Given the description of an element on the screen output the (x, y) to click on. 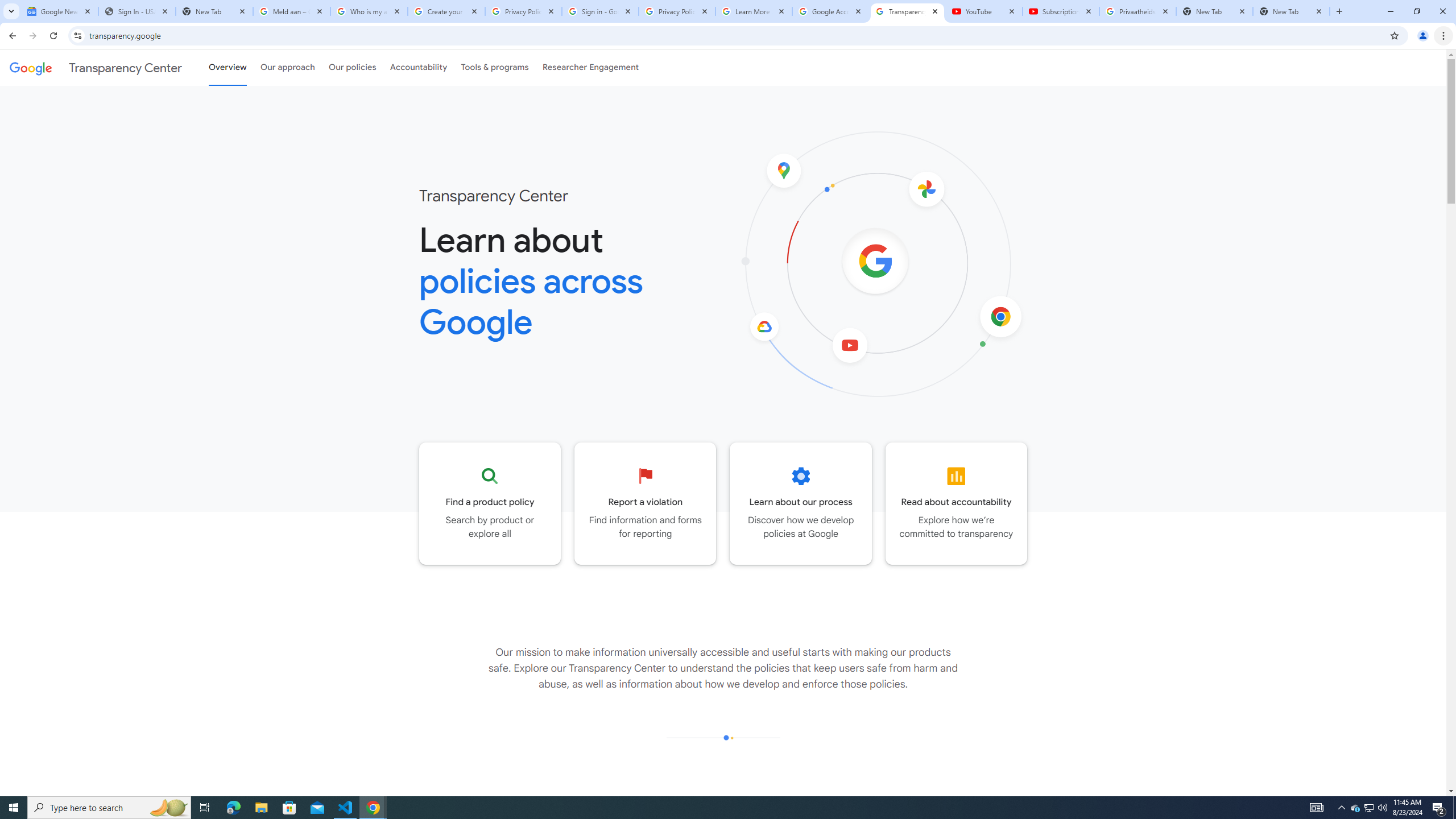
Accountability (418, 67)
Google News (59, 11)
Sign In - USA TODAY (136, 11)
Sign in - Google Accounts (599, 11)
Go to the Accountability page (956, 503)
Go to the Our process page (800, 503)
